Given the description of an element on the screen output the (x, y) to click on. 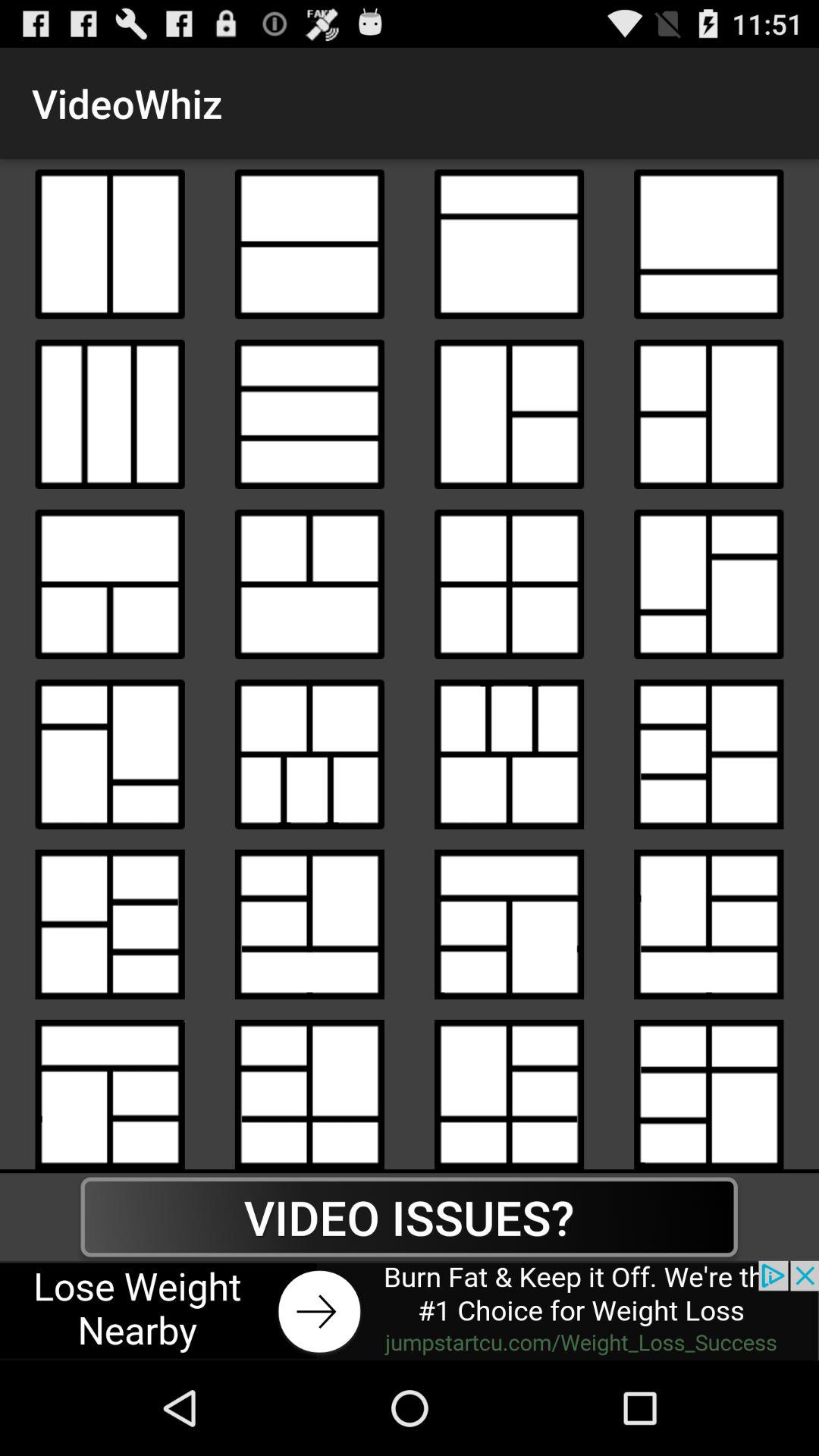
click the advertisement (409, 1310)
